Given the description of an element on the screen output the (x, y) to click on. 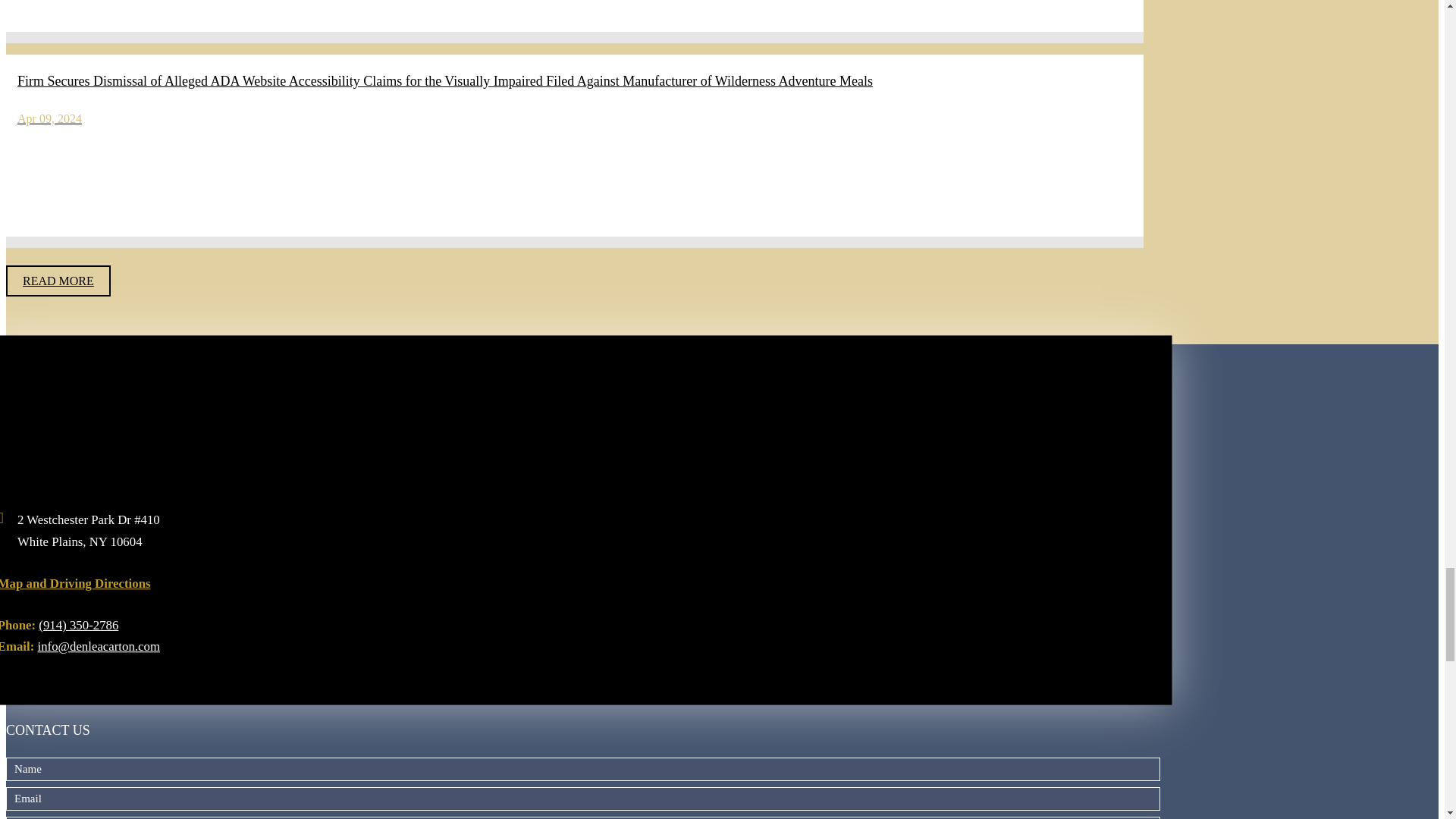
Map and Driving Directions (71, 582)
READ MORE (57, 280)
